Given the description of an element on the screen output the (x, y) to click on. 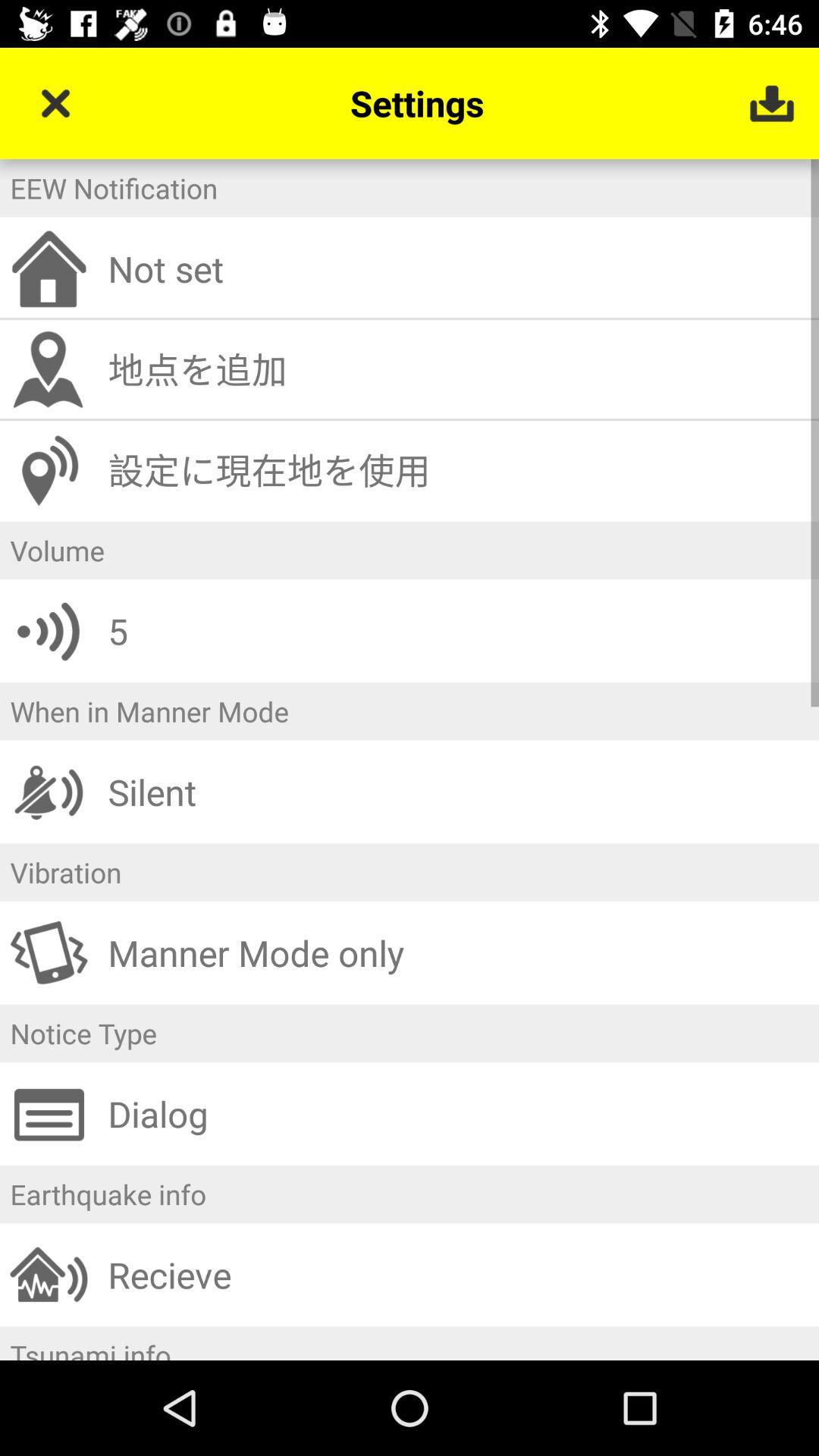
select item to the right of the settings icon (771, 103)
